Given the description of an element on the screen output the (x, y) to click on. 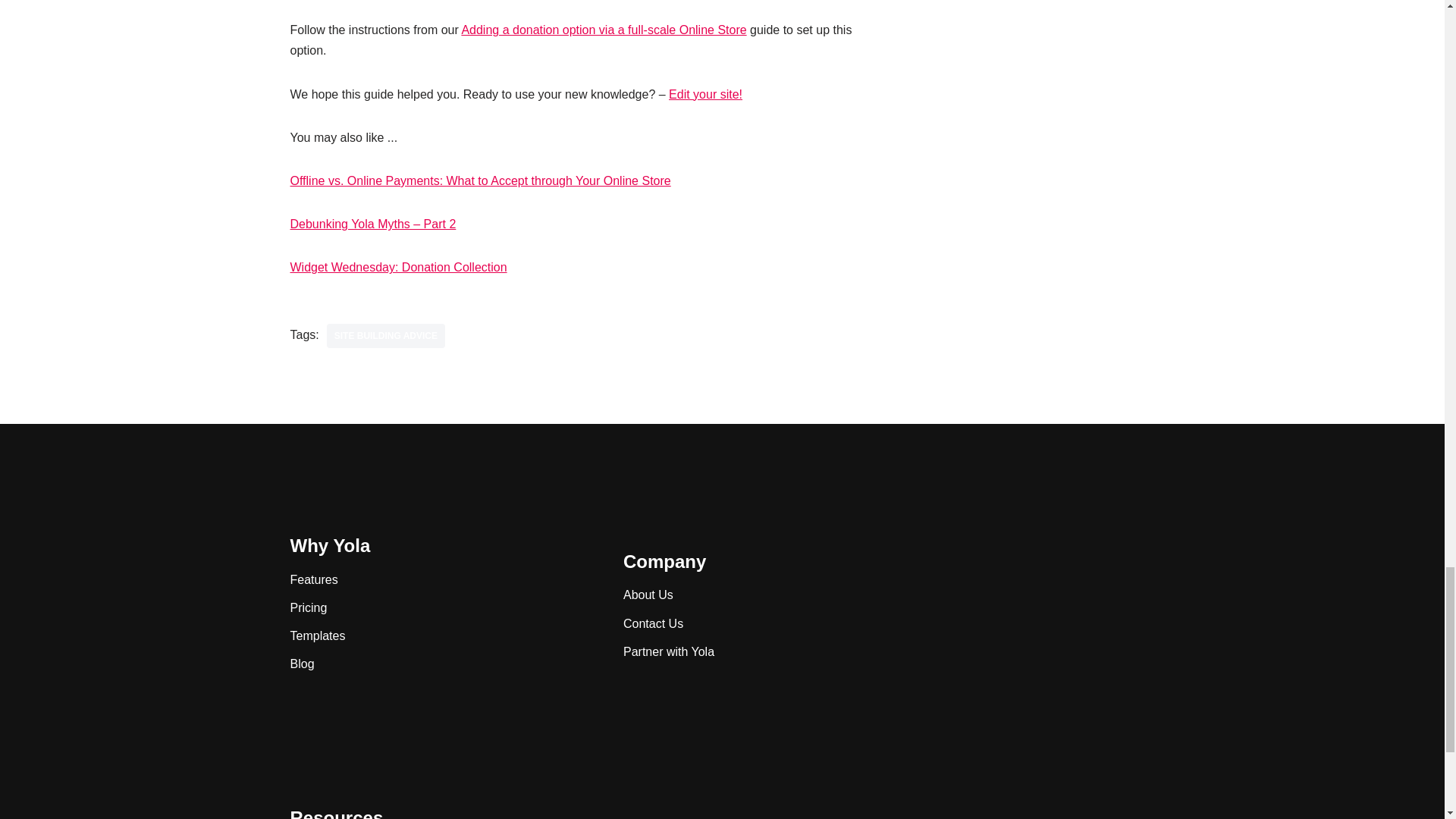
Adding a donation option via a full-scale Online Store (603, 29)
site building advice (385, 335)
SITE BUILDING ADVICE (385, 335)
Edit your site! (705, 93)
Adding a donation option via a full-scale Online Store (603, 29)
Widget Wednesday: Donation Collection (397, 267)
